Given the description of an element on the screen output the (x, y) to click on. 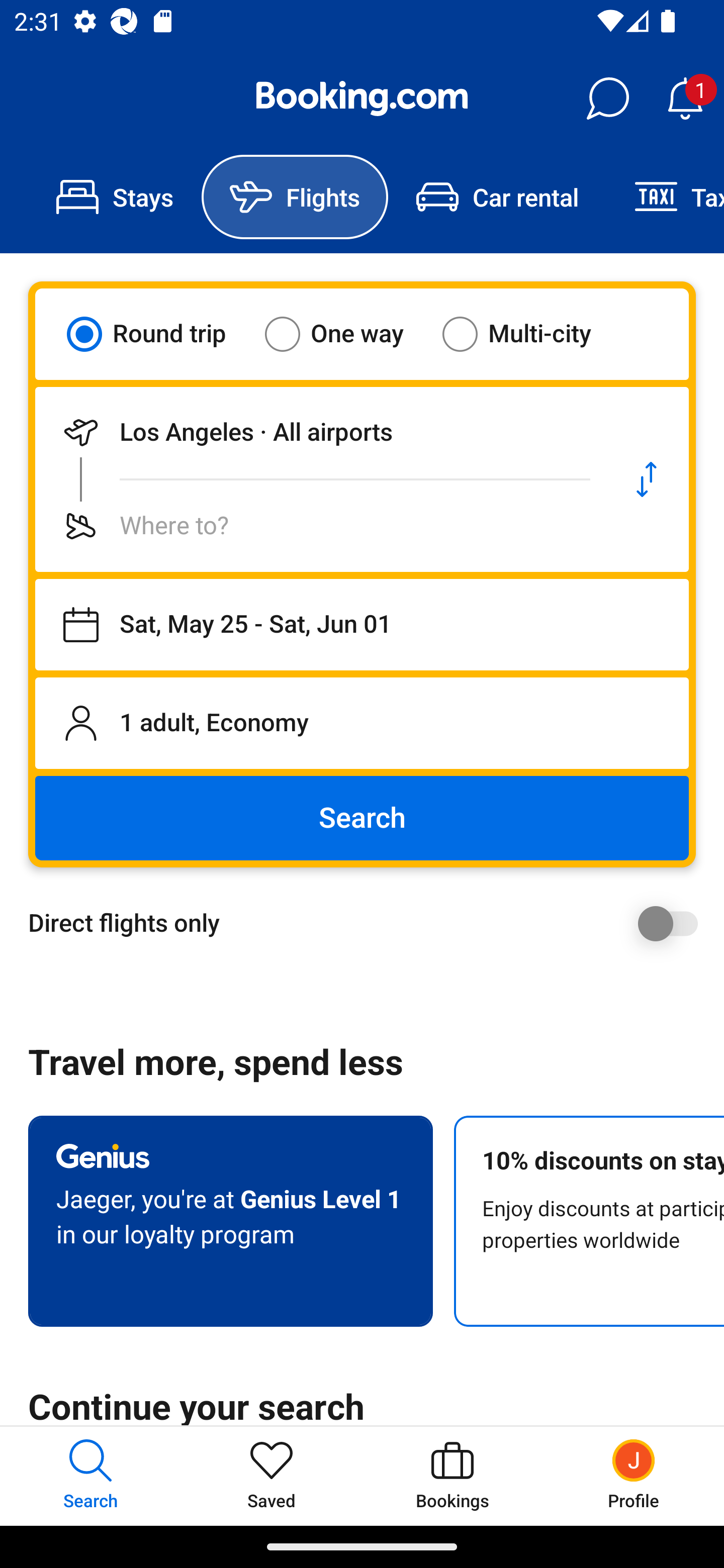
Messages (607, 98)
Notifications (685, 98)
Stays (114, 197)
Flights (294, 197)
Car rental (497, 197)
Taxi (665, 197)
One way (346, 333)
Multi-city (528, 333)
Departing from Los Angeles · All airports (319, 432)
Swap departure location and destination (646, 479)
Flying to  (319, 525)
Departing on Sat, May 25, returning on Sat, Jun 01 (361, 624)
1 adult, Economy (361, 722)
Search (361, 818)
Direct flights only (369, 923)
Saved (271, 1475)
Bookings (452, 1475)
Profile (633, 1475)
